Given the description of an element on the screen output the (x, y) to click on. 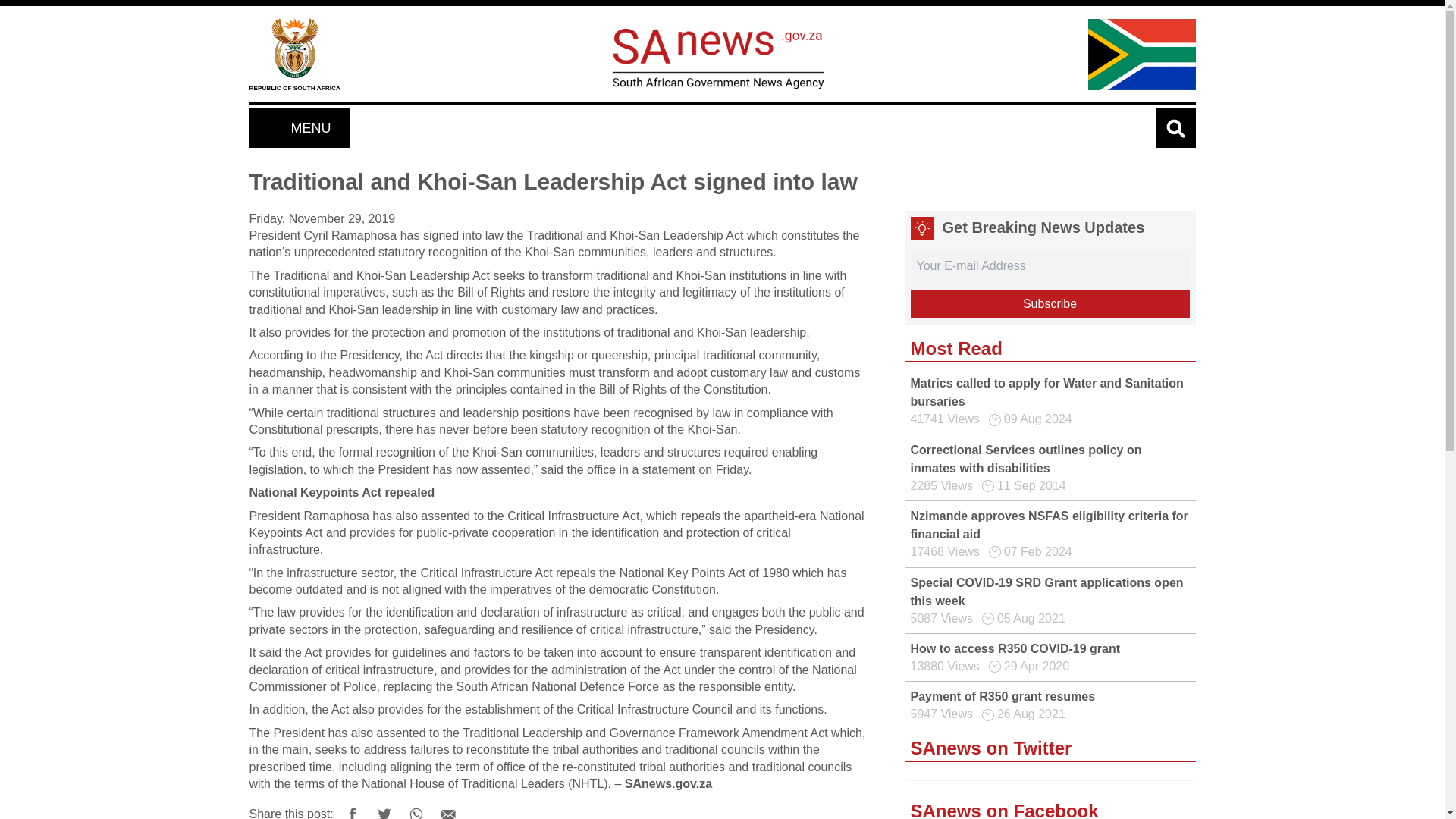
How to access R350 COVID-19 grant (1014, 648)
Share by Email (448, 808)
MENU (298, 127)
Share on Facebook (352, 808)
Payment of R350 grant resumes (1002, 696)
Subscribe (1049, 303)
Share on Twitter (384, 808)
Special COVID-19 SRD Grant applications open this week (1046, 591)
